Given the description of an element on the screen output the (x, y) to click on. 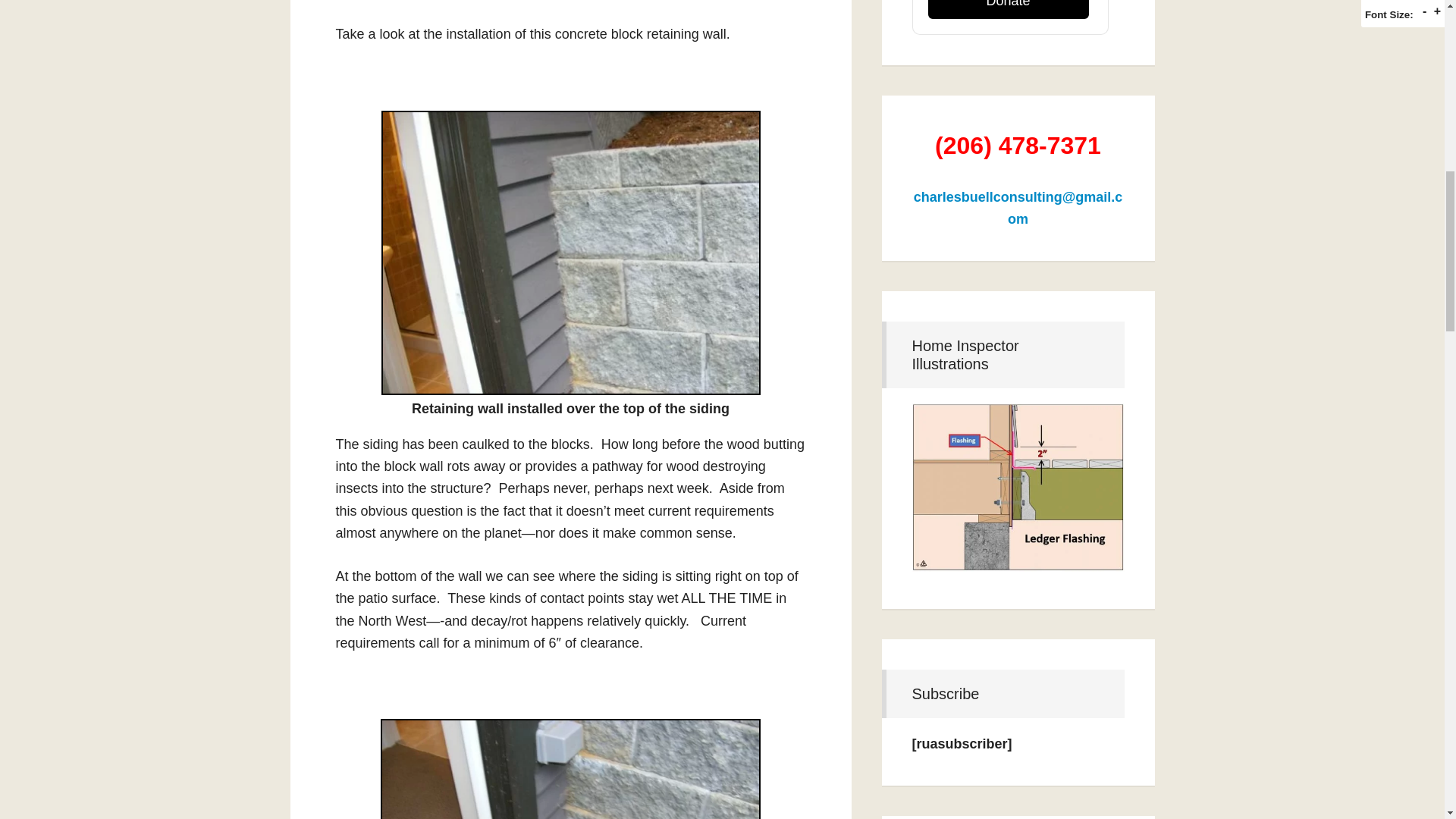
retainingwall2 (570, 769)
retainingwall1 (570, 252)
Donate (1008, 9)
